Given the description of an element on the screen output the (x, y) to click on. 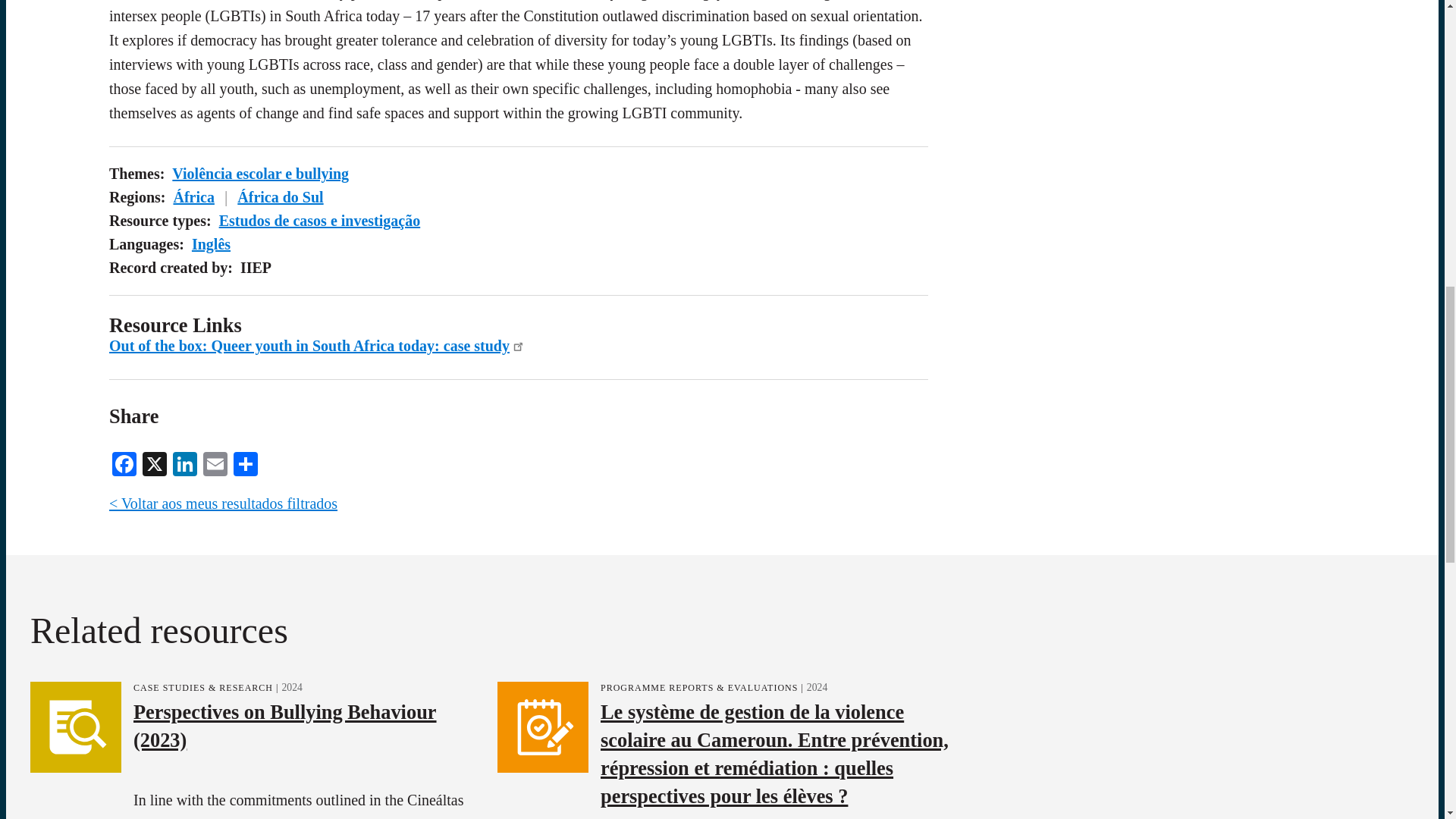
LinkedIn (185, 461)
Facebook (124, 461)
Email (215, 461)
X (154, 461)
